Given the description of an element on the screen output the (x, y) to click on. 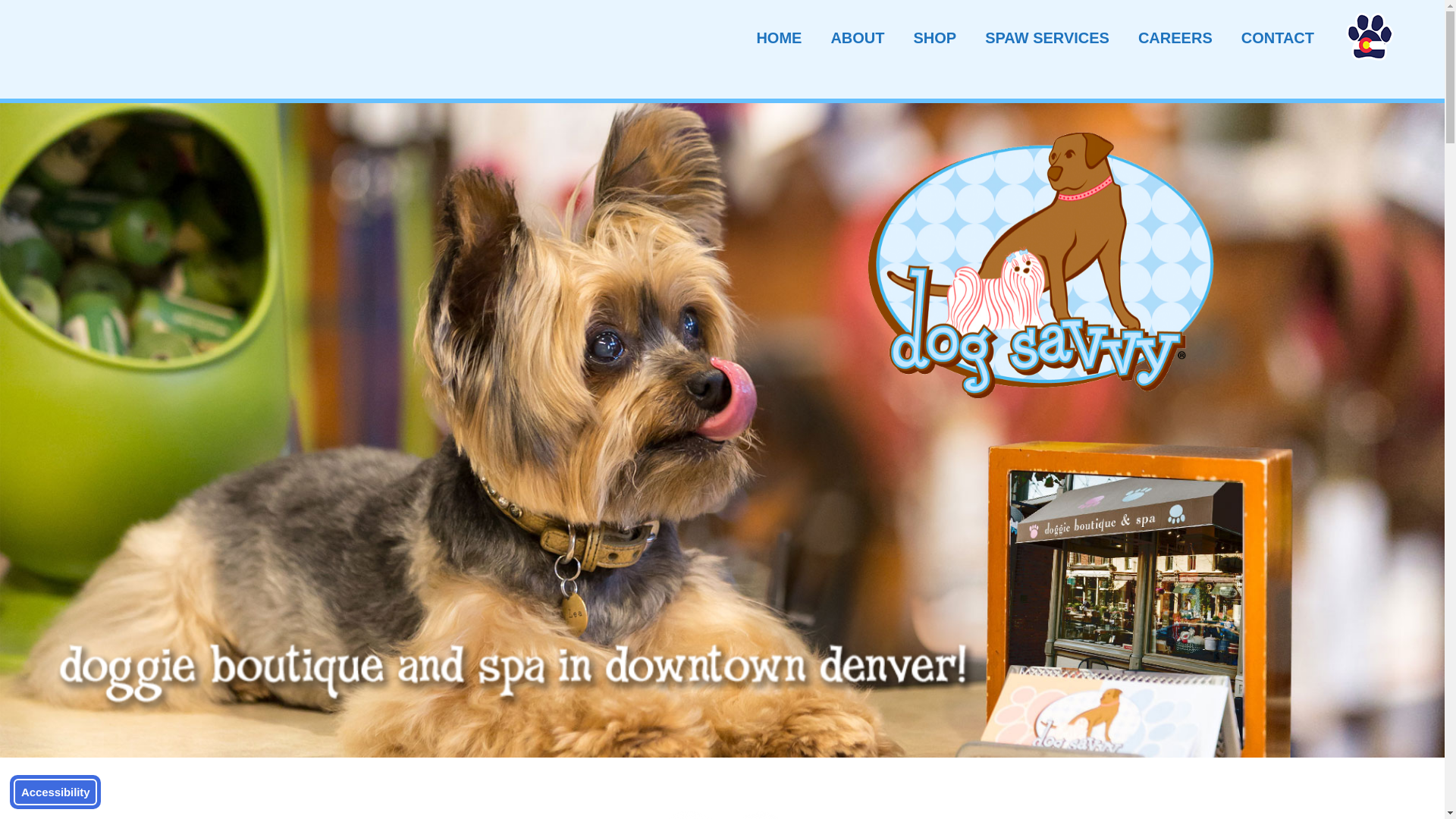
CAREERS (1175, 38)
Accessibility Menu (55, 791)
CONTACT (1277, 38)
SHOP (934, 38)
HOME (778, 38)
SPAW SERVICES (1047, 38)
ABOUT (856, 38)
